Given the description of an element on the screen output the (x, y) to click on. 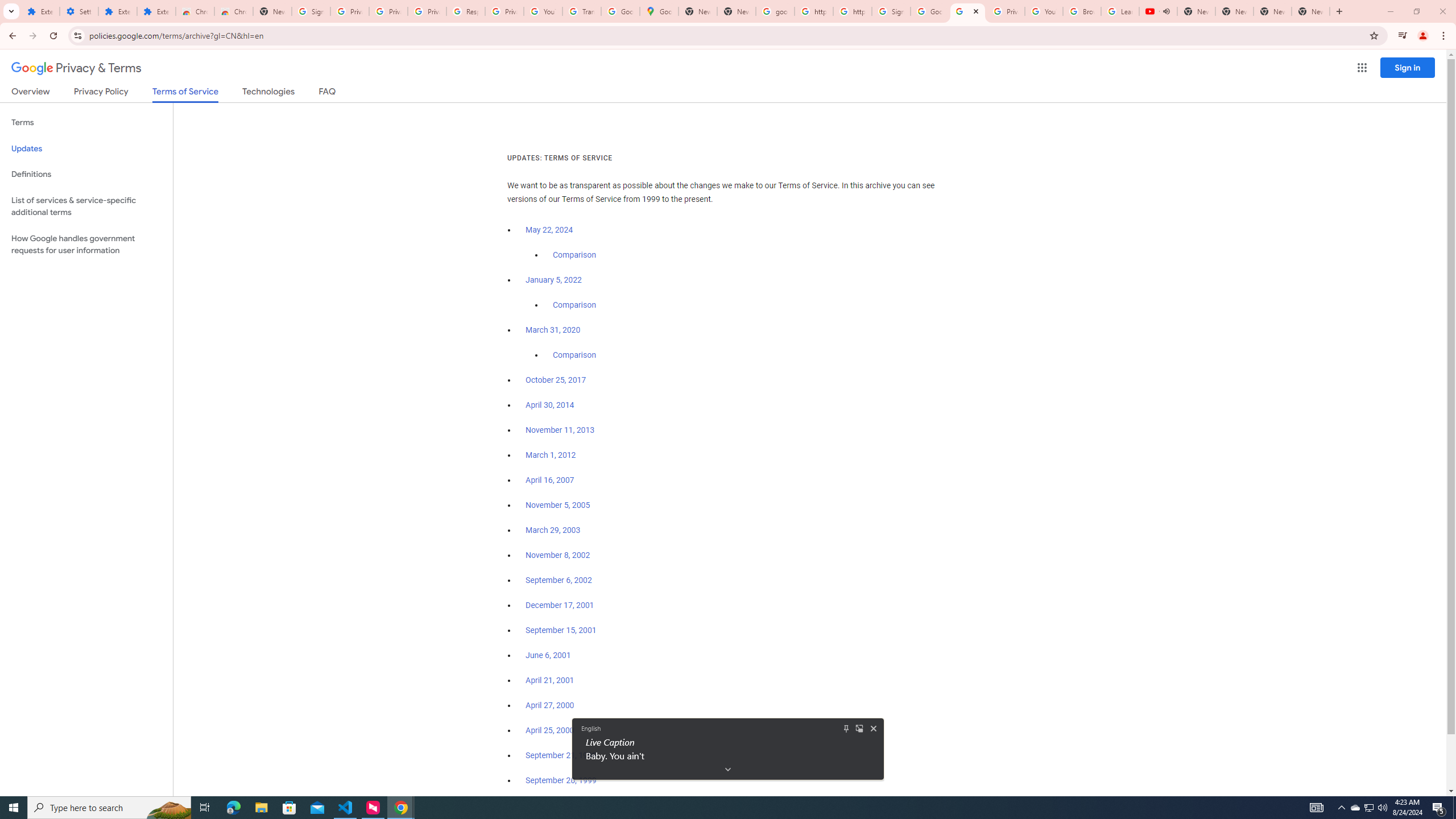
New Tab (272, 11)
https://scholar.google.com/ (813, 11)
Sign in - Google Accounts (310, 11)
Extensions (40, 11)
Running applications (717, 807)
Show more lines (727, 769)
September 15, 2001 (560, 629)
Extensions (117, 11)
